Given the description of an element on the screen output the (x, y) to click on. 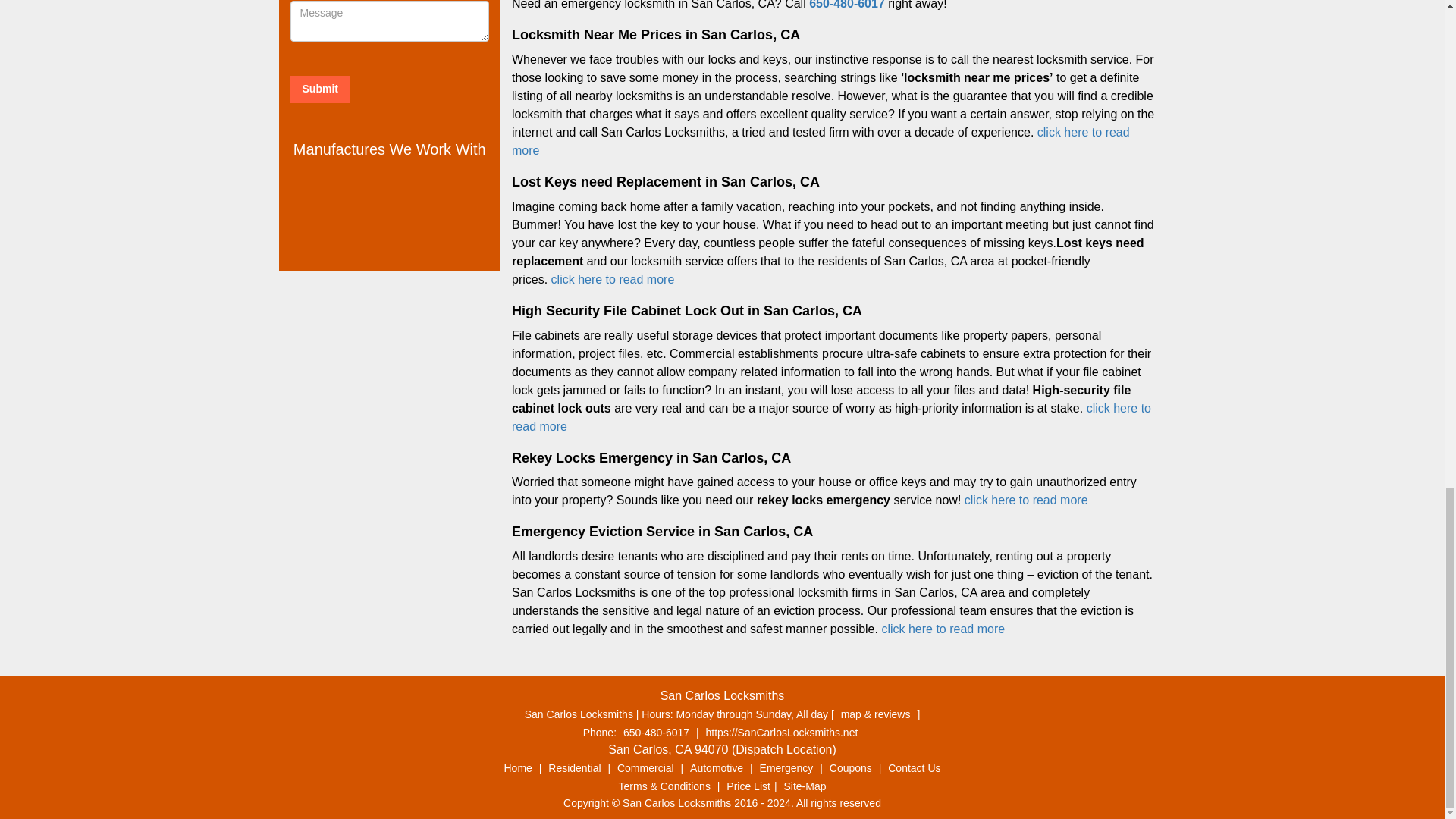
Submit (319, 89)
Submit (319, 89)
Message Field require (389, 20)
